Given the description of an element on the screen output the (x, y) to click on. 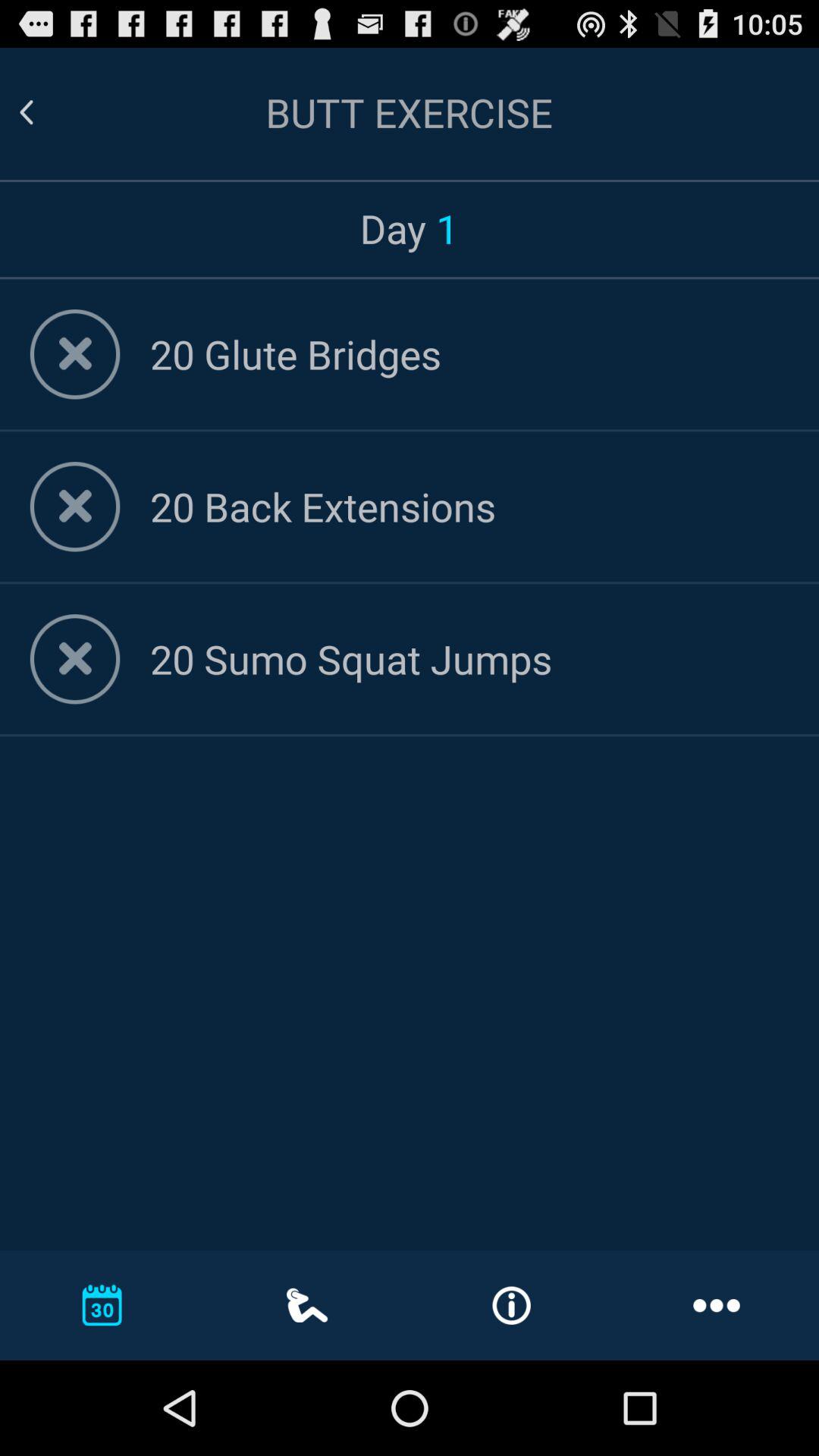
delete exercise (75, 506)
